Given the description of an element on the screen output the (x, y) to click on. 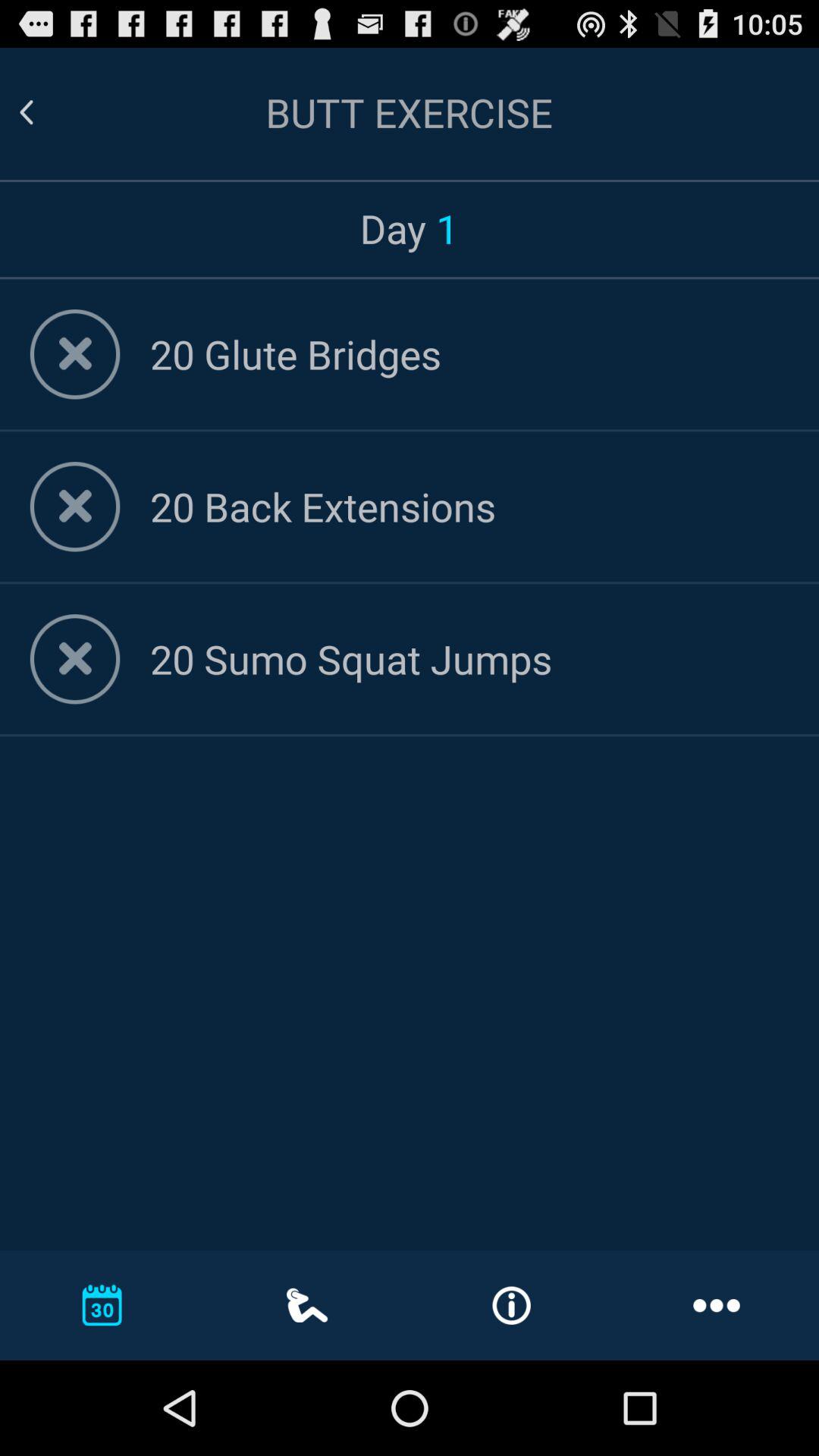
delete exercise (75, 506)
